Given the description of an element on the screen output the (x, y) to click on. 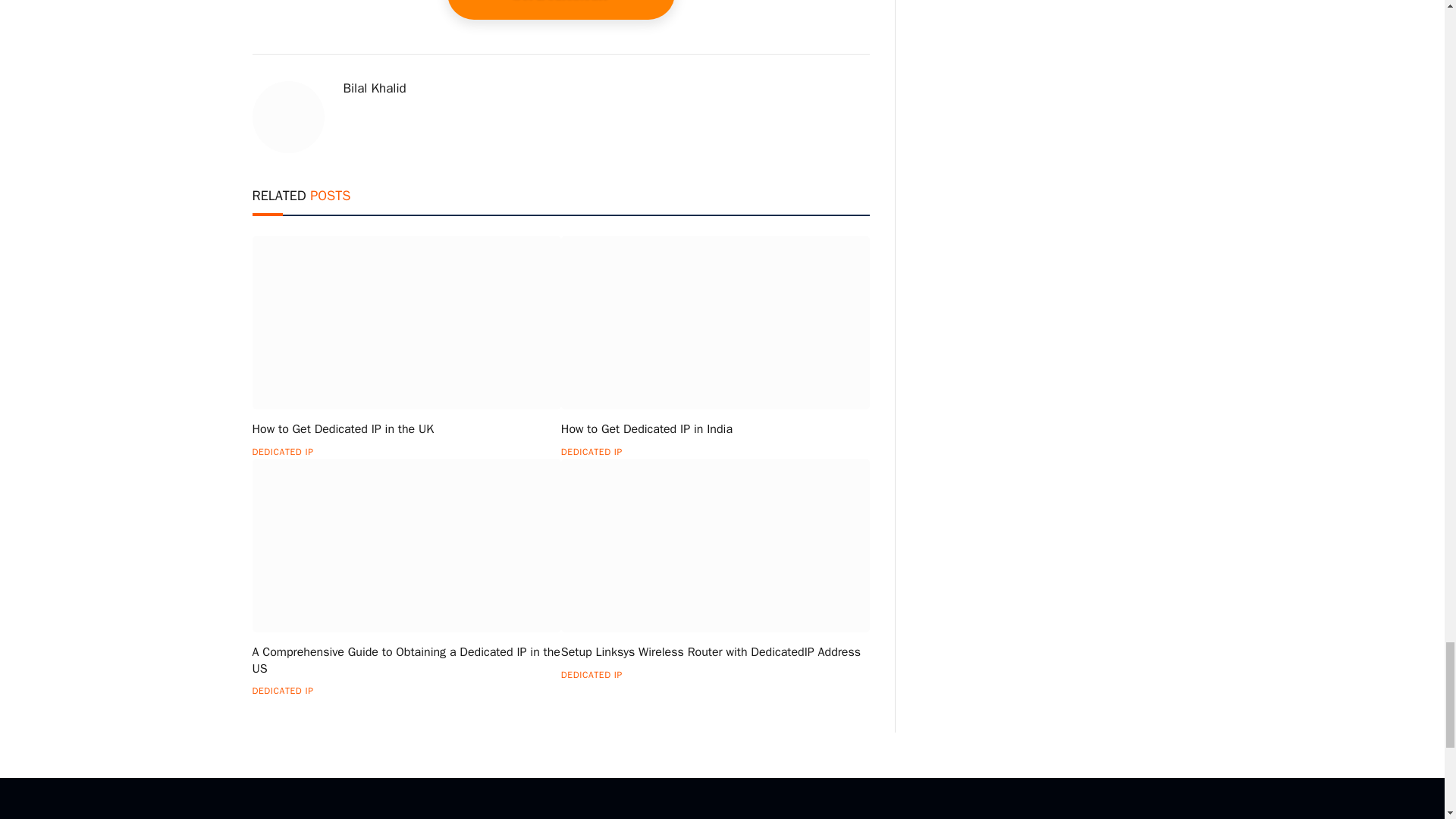
Posts by Bilal Khalid (374, 88)
Bilal Khalid (374, 88)
How to Get Dedicated IP in the UK (405, 322)
How to Get Dedicated IP in the UK (405, 429)
DEDICATED IP (282, 451)
Get DedicatedIP (560, 9)
